Given the description of an element on the screen output the (x, y) to click on. 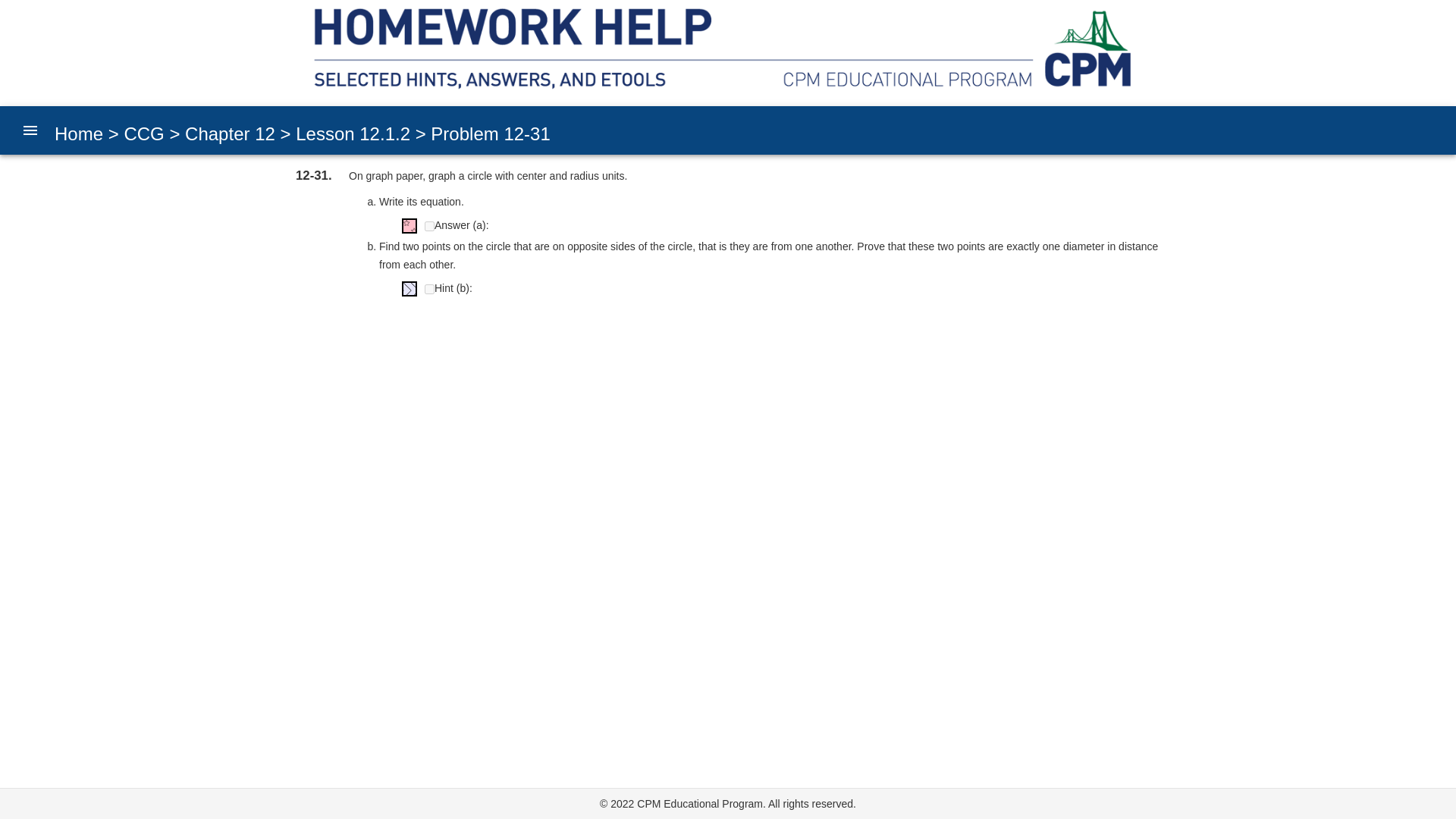
CCG (141, 133)
Lesson 12.1.2 (350, 133)
Home (79, 133)
on (429, 289)
Chapter 12 (227, 133)
on (429, 225)
